Given the description of an element on the screen output the (x, y) to click on. 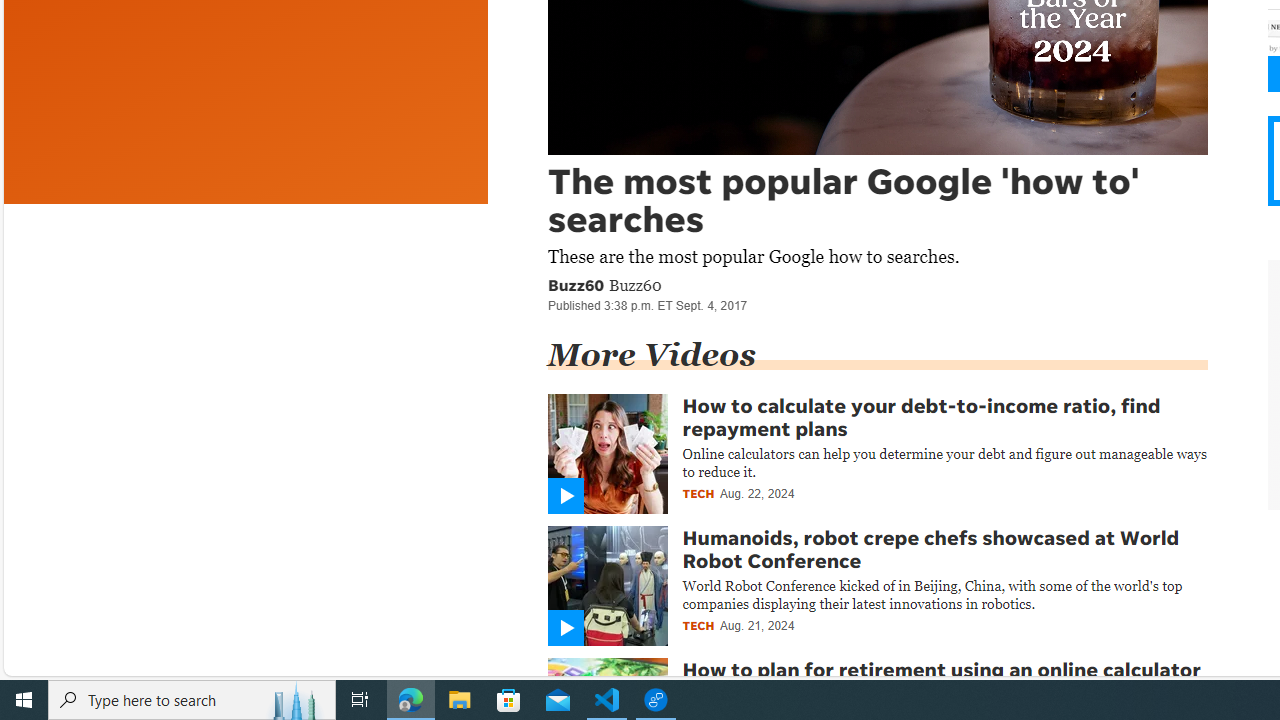
Class: gnt_m_flm_svg (564, 628)
